Given the description of an element on the screen output the (x, y) to click on. 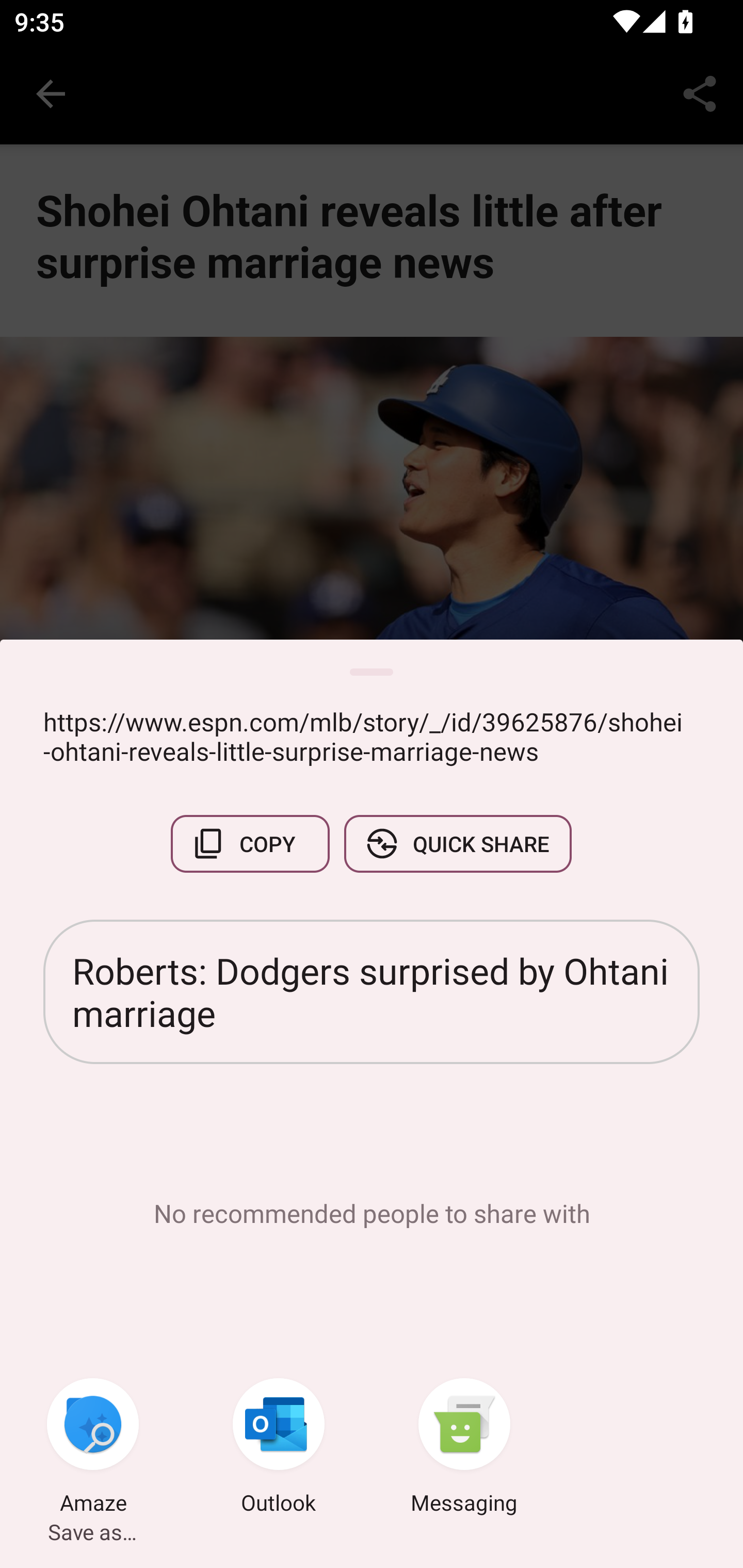
COPY (249, 844)
QUICK SHARE (457, 844)
Amaze Save as… (92, 1448)
Outlook (278, 1448)
Messaging (464, 1448)
